Given the description of an element on the screen output the (x, y) to click on. 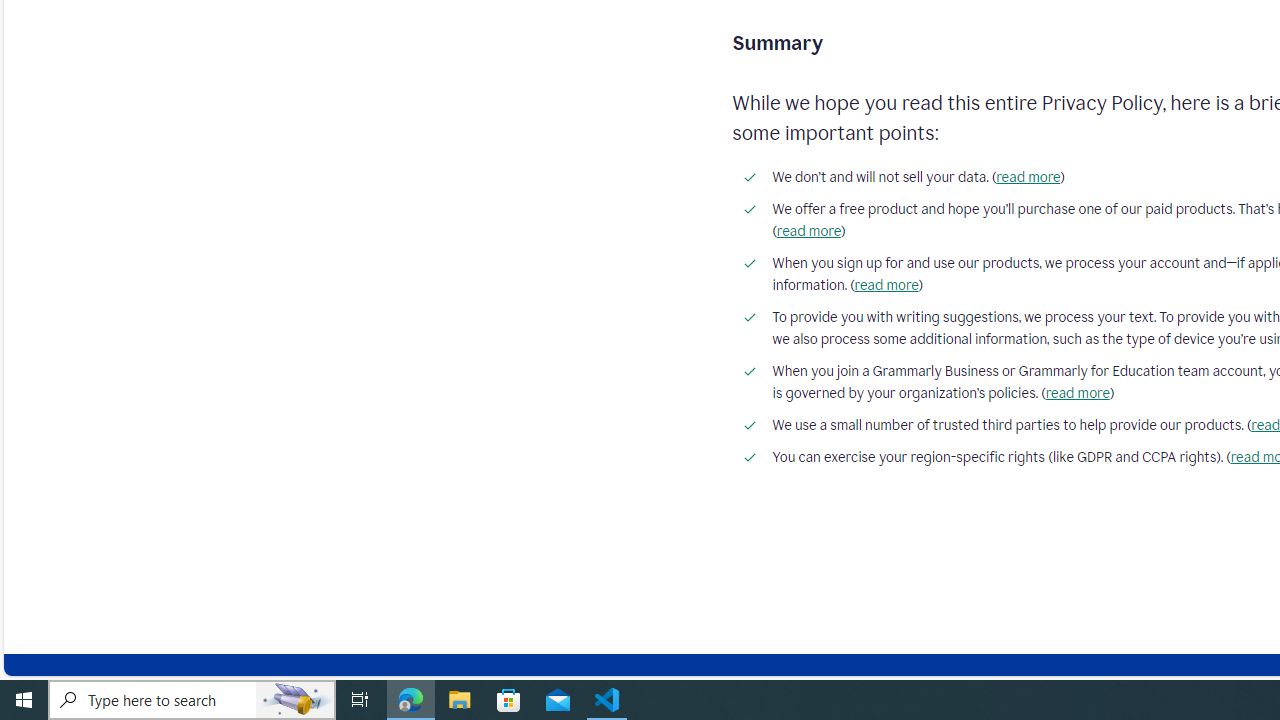
read more (1076, 393)
